Given the description of an element on the screen output the (x, y) to click on. 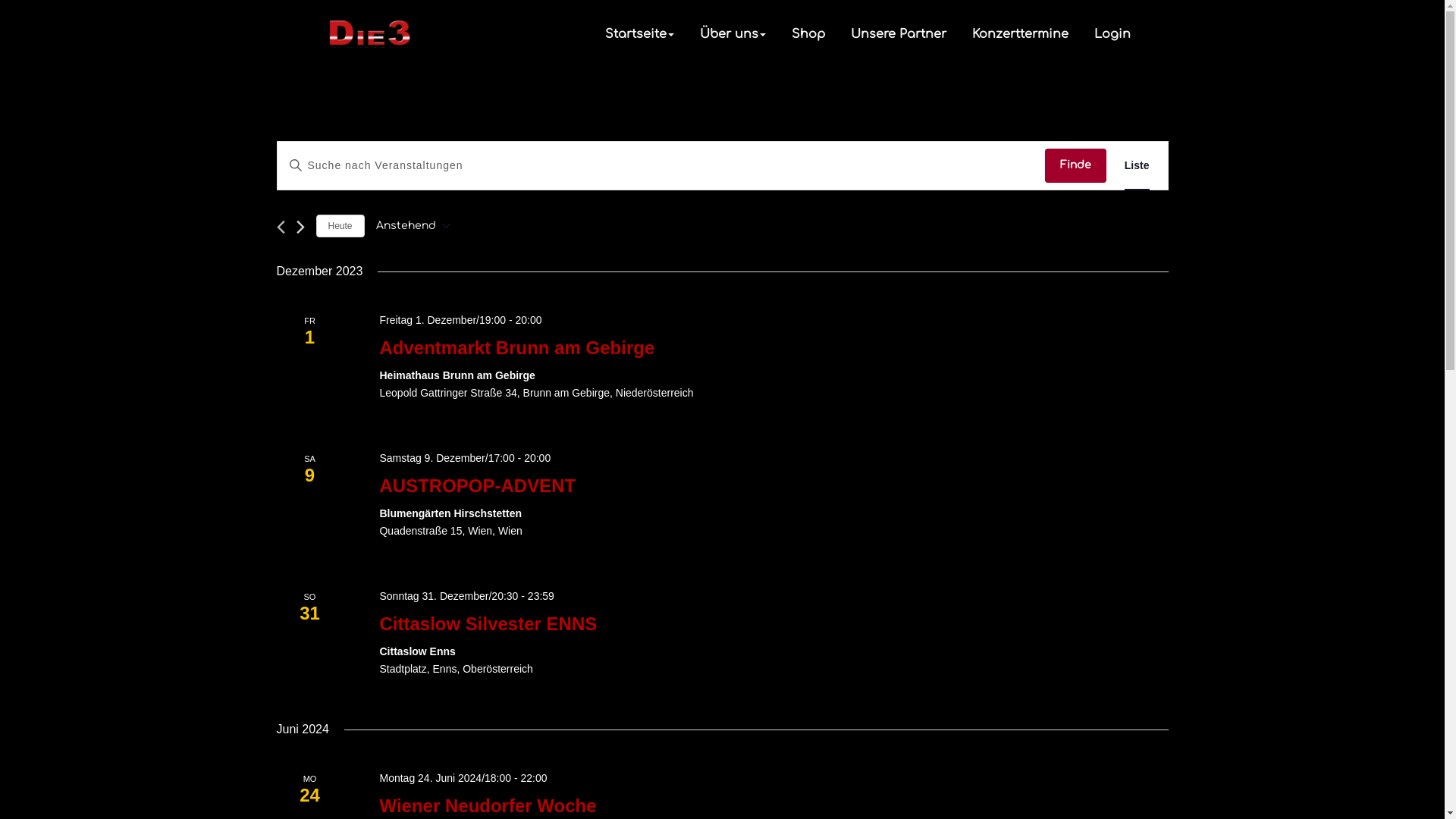
Startseite Element type: text (638, 34)
Anstehend Element type: text (413, 225)
Vorherige Veranstaltungen Element type: hover (280, 226)
Konzerttermine Element type: text (1019, 34)
Login Element type: text (1112, 34)
Springe zum Inhalt Element type: text (0, 0)
Wiener Neudorfer Woche Element type: text (487, 805)
Unsere Partner Element type: text (897, 34)
AUSTROPOP-ADVENT Element type: text (477, 485)
Liste Element type: text (1136, 165)
DIE3 Element type: text (487, 24)
Cittaslow Silvester ENNS Element type: text (487, 623)
Shop Element type: text (807, 34)
Heute Element type: text (339, 226)
Finde Element type: text (1075, 165)
Adventmarkt Brunn am Gebirge Element type: text (516, 347)
